Given the description of an element on the screen output the (x, y) to click on. 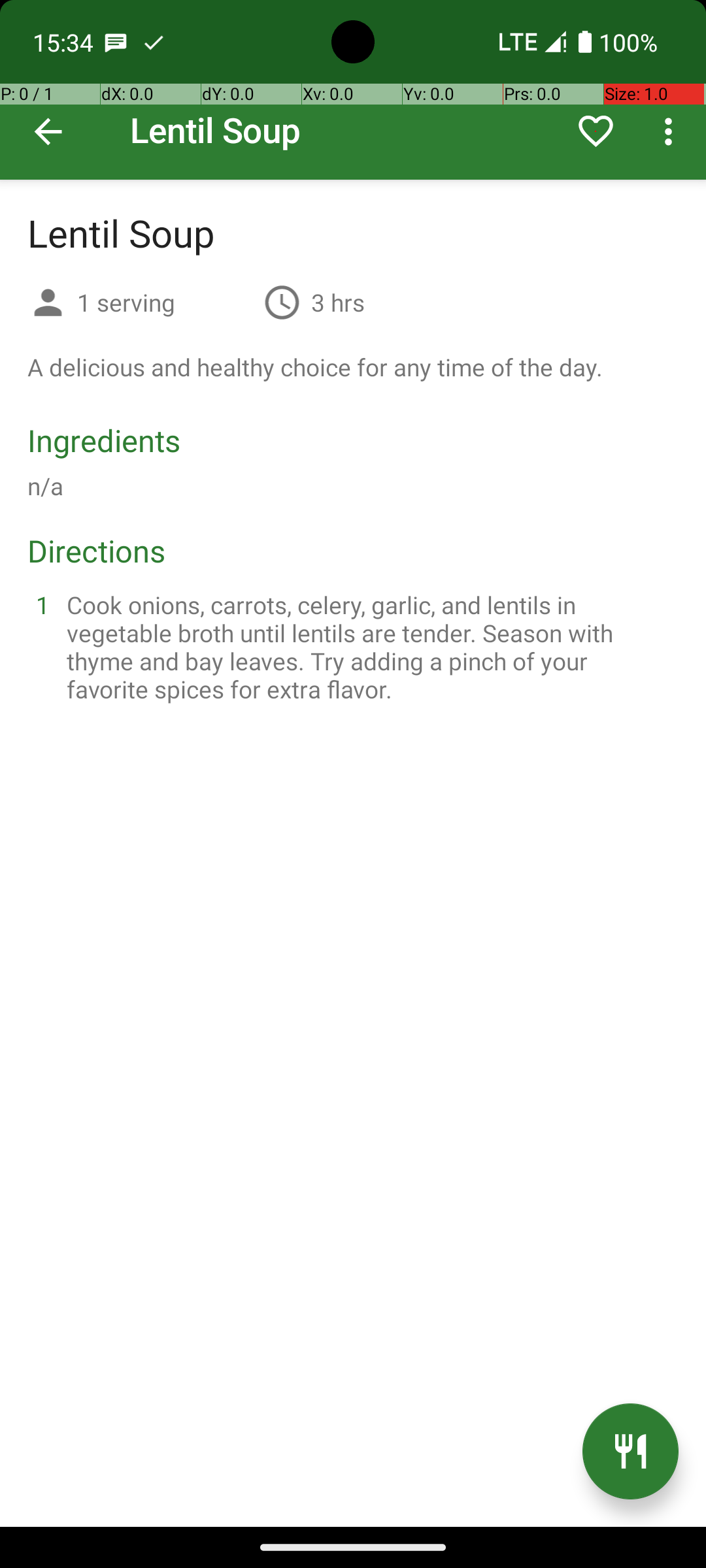
Cook onions, carrots, celery, garlic, and lentils in vegetable broth until lentils are tender. Season with thyme and bay leaves. Try adding a pinch of your favorite spices for extra flavor. Element type: android.widget.TextView (368, 646)
